Given the description of an element on the screen output the (x, y) to click on. 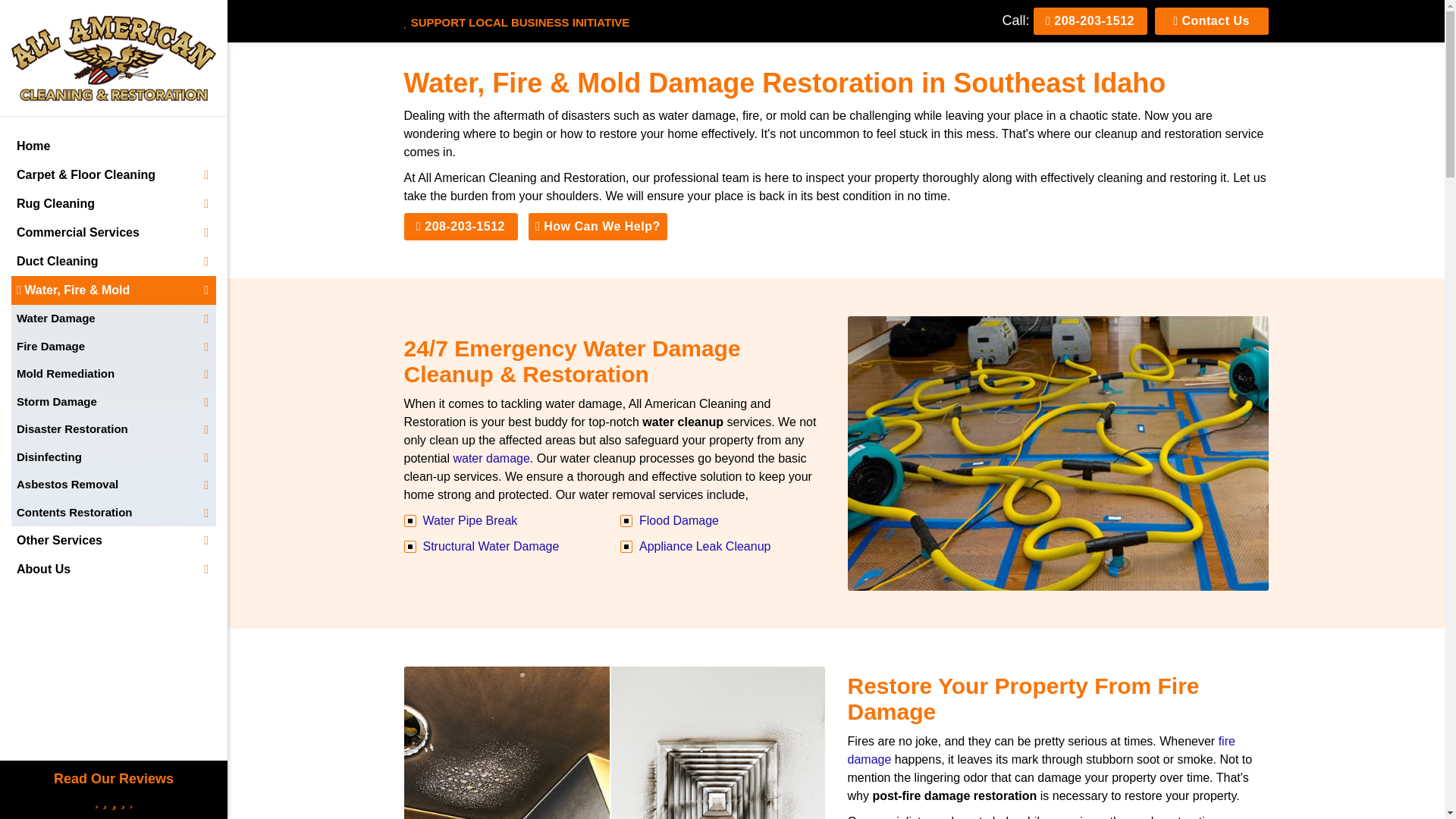
SUPPORT LOCAL BUSINESS INITIATIVE (515, 21)
How Can We Help? (597, 226)
Structural Water Damage (491, 545)
water damage (490, 458)
Appliance Leak Cleanup (704, 545)
208-203-1512 (1089, 21)
fire damage (1040, 749)
Water Pipe Break (470, 520)
Contact Us (1211, 21)
208-203-1512 (459, 226)
